Given the description of an element on the screen output the (x, y) to click on. 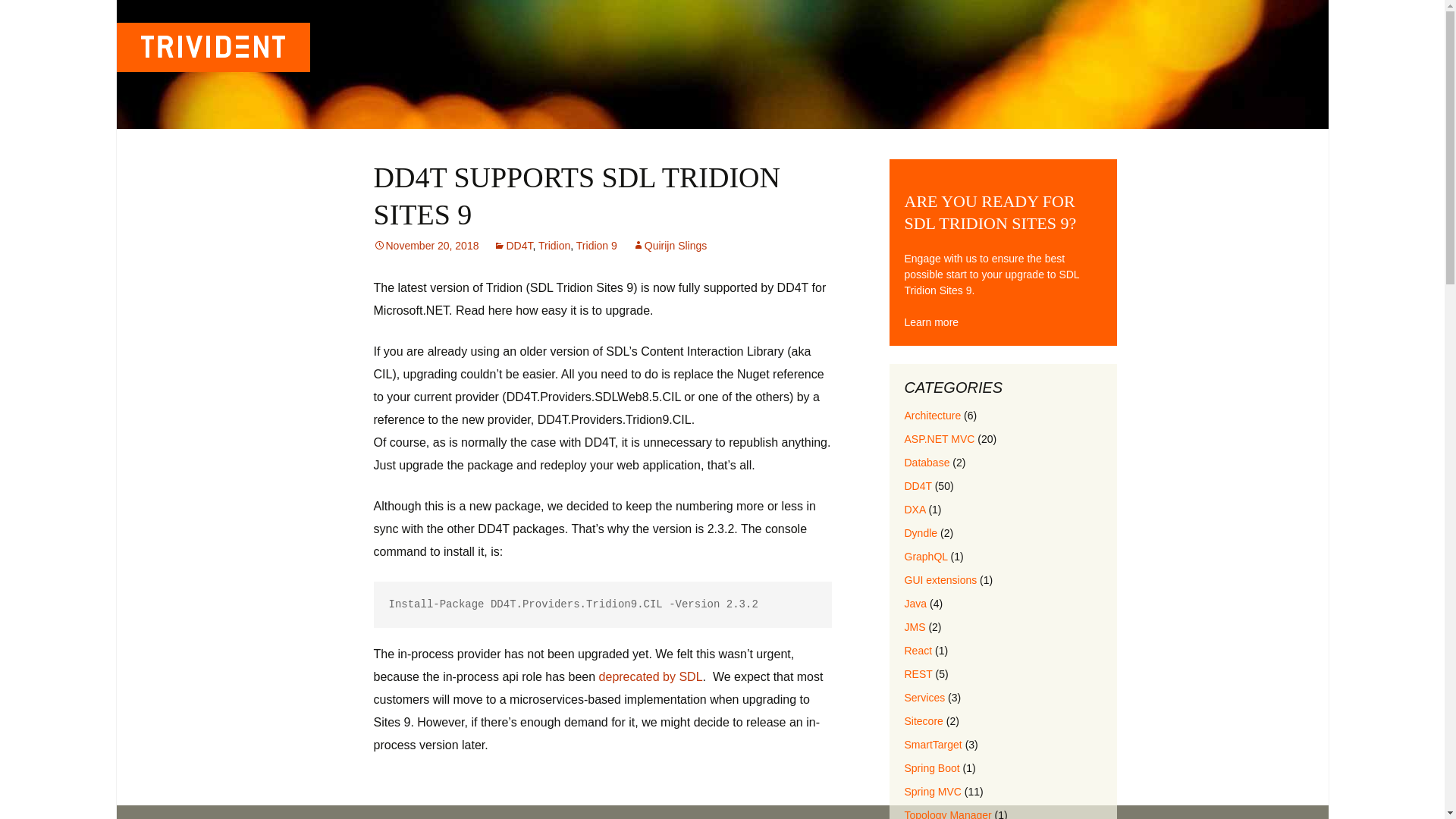
Database (926, 462)
Sitecore (923, 720)
DD4T (512, 245)
Permalink to DD4T supports SDL Tridion Sites 9 (425, 245)
Dyndle (920, 532)
Spring MVC (932, 791)
Tridion (554, 245)
REST (917, 674)
Architecture (932, 415)
Spring Boot (931, 767)
Tridion 9 (596, 245)
Services (924, 697)
Java (915, 603)
GUI extensions (940, 580)
React (917, 650)
